Given the description of an element on the screen output the (x, y) to click on. 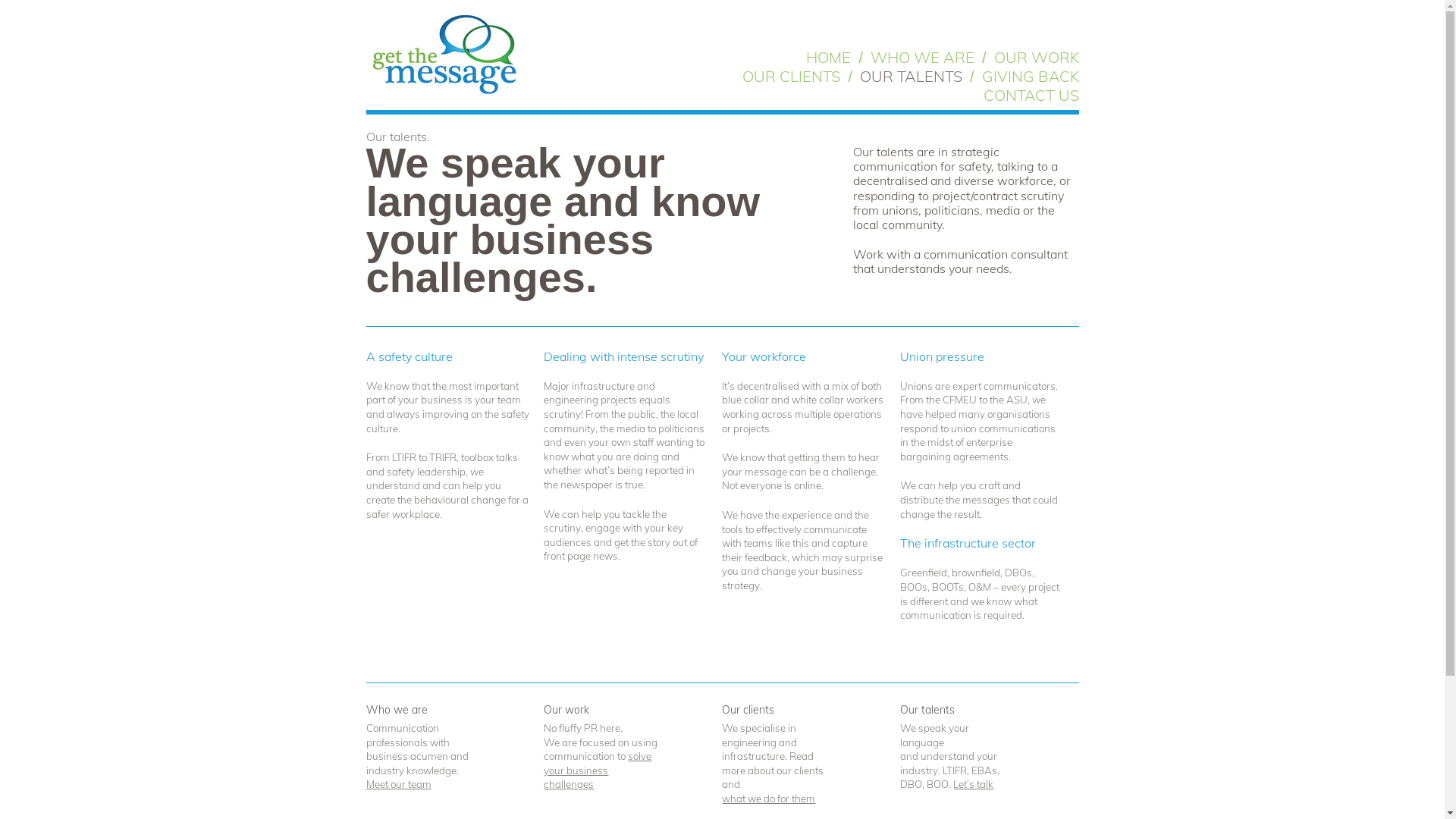
what we do for them Element type: text (768, 798)
OUR CLIENTS Element type: text (791, 75)
solve
your business challenges Element type: text (597, 769)
Our clients Element type: text (747, 709)
GIVING BACK Element type: text (1029, 75)
OUR WORK Element type: text (1035, 56)
Our talents Element type: text (927, 709)
Meet our team Element type: text (397, 784)
Our work Element type: text (566, 709)
Who we are Element type: text (395, 709)
CONTACT US Element type: text (1030, 93)
WHO WE ARE Element type: text (922, 56)
OUR TALENTS Element type: text (910, 75)
HOME Element type: text (828, 56)
